Given the description of an element on the screen output the (x, y) to click on. 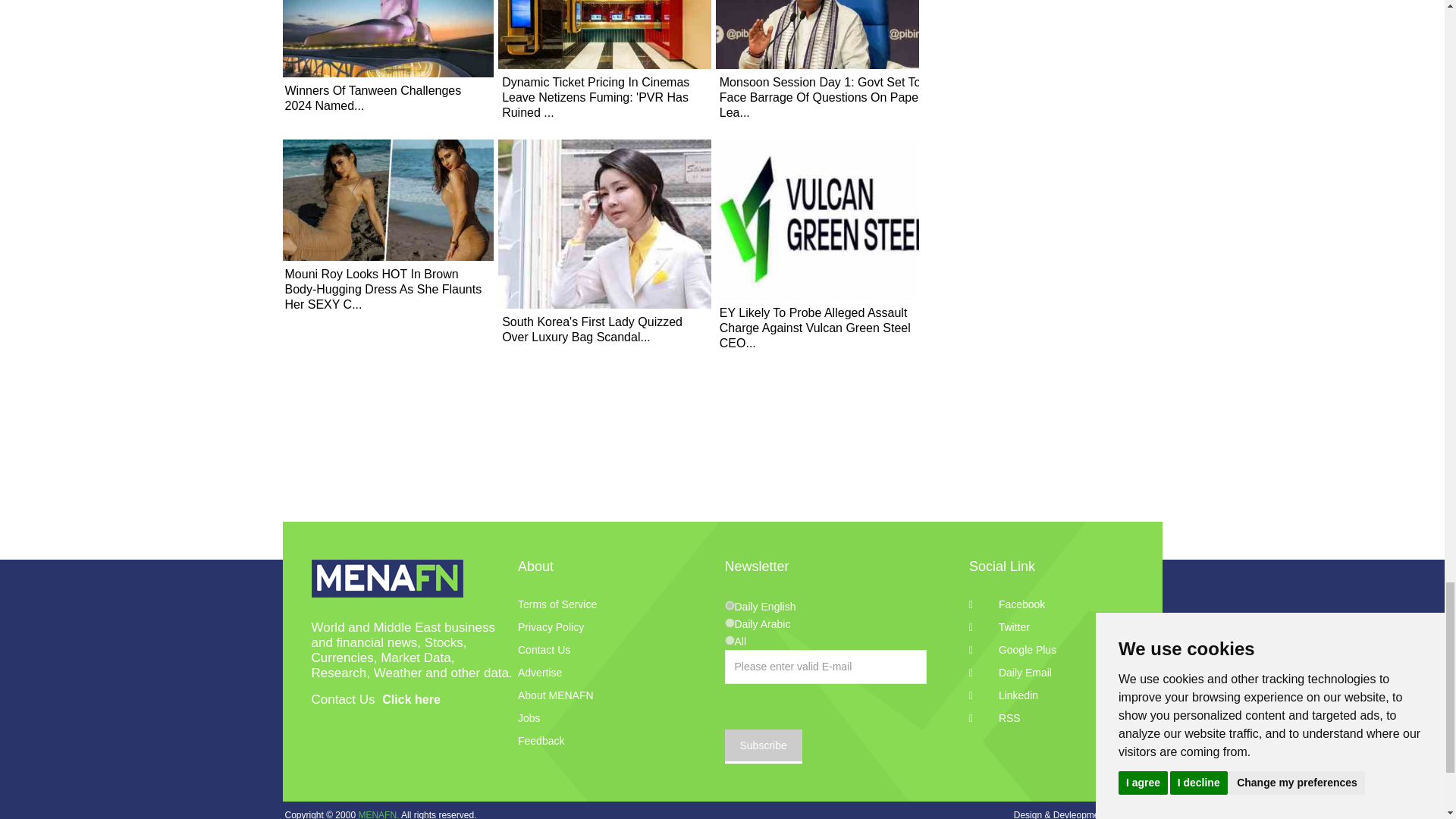
Subscribe (763, 746)
